Given the description of an element on the screen output the (x, y) to click on. 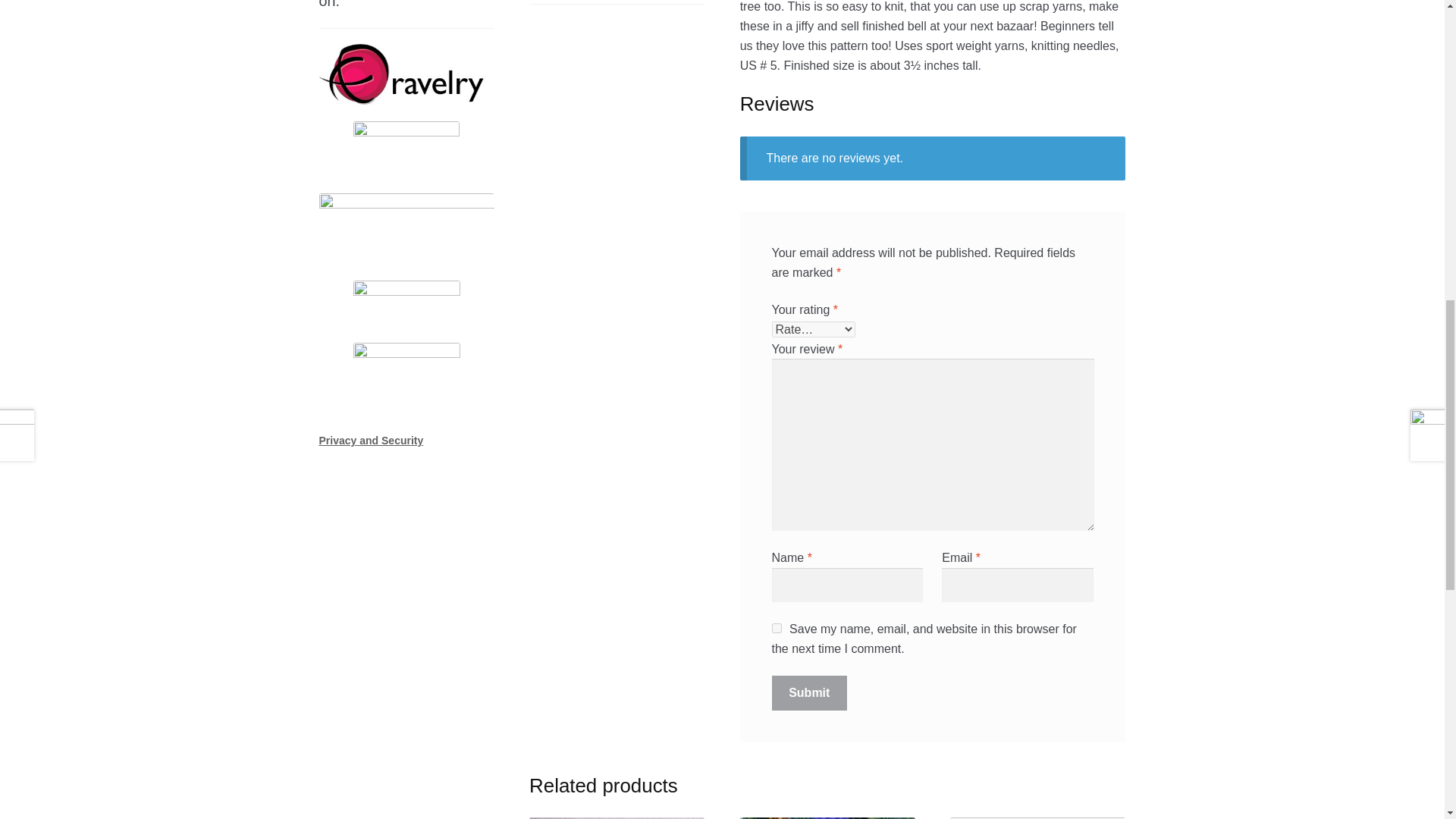
yes (776, 628)
Submit (809, 692)
Submit (809, 692)
